Given the description of an element on the screen output the (x, y) to click on. 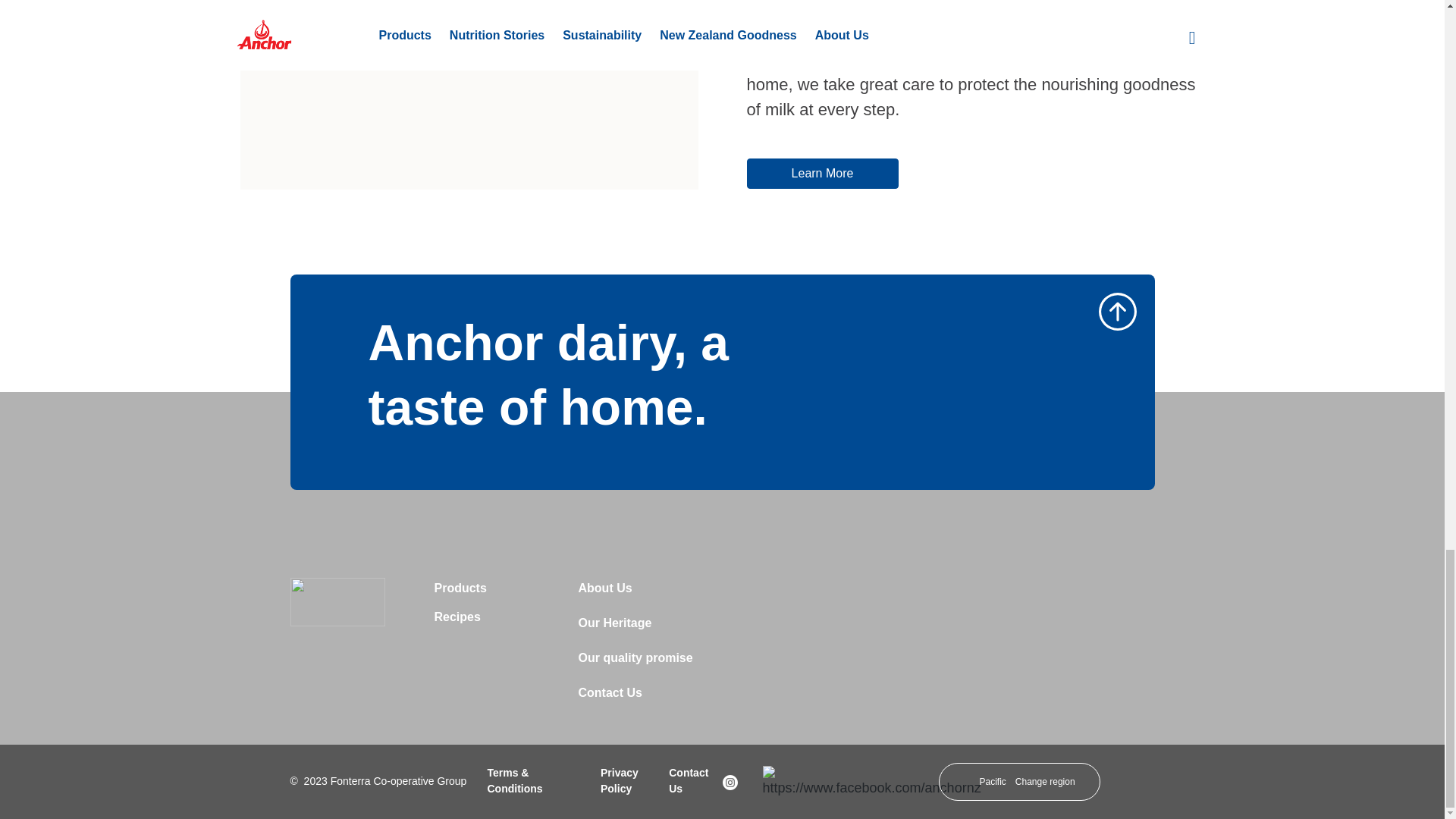
Products (459, 592)
Contact Us (610, 697)
Recipes (456, 621)
About Us (604, 592)
Learn More (821, 173)
Our Heritage (614, 627)
Our quality promise (635, 662)
